Given the description of an element on the screen output the (x, y) to click on. 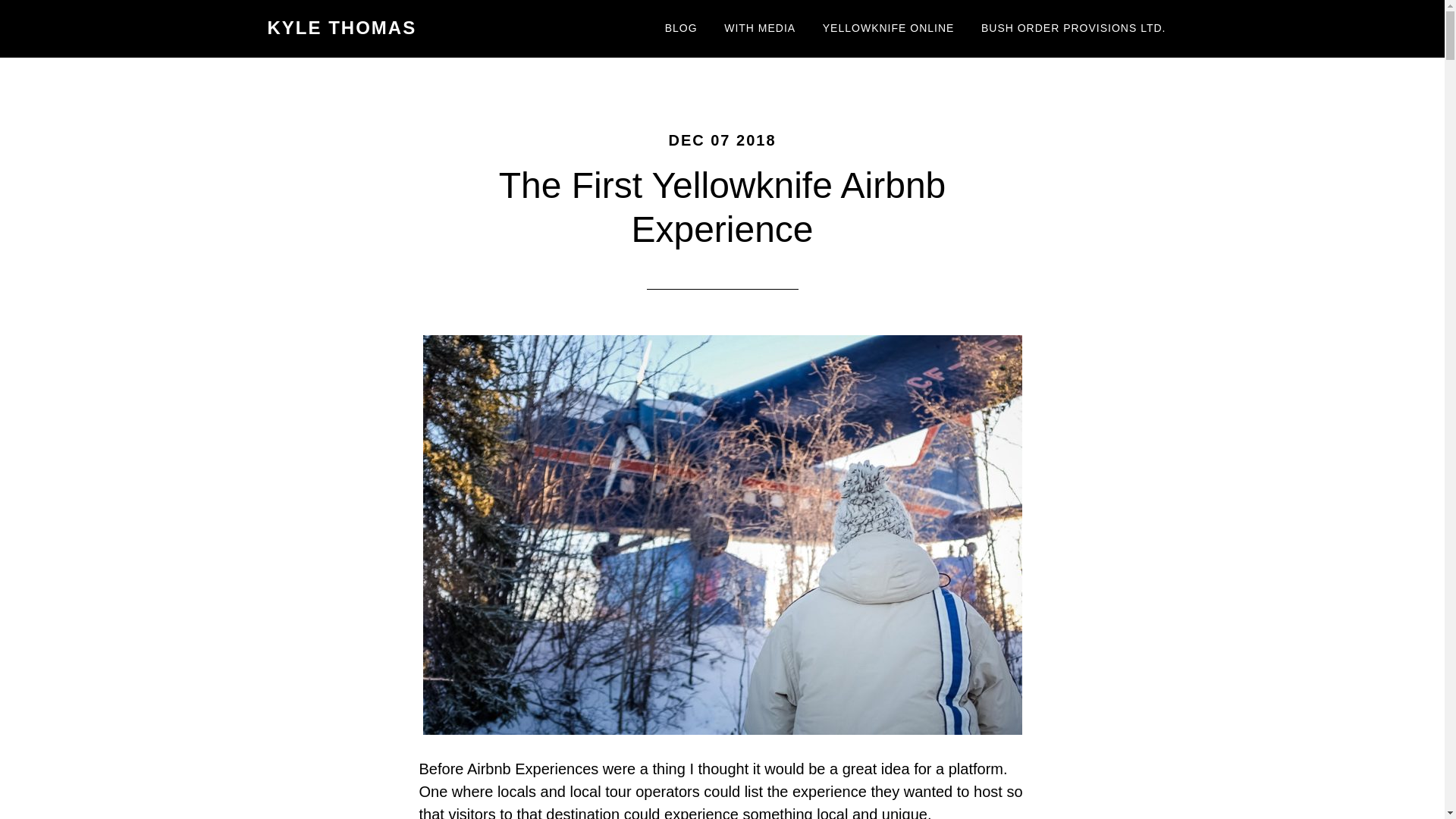
KYLE THOMAS (341, 27)
BLOG (681, 28)
The First Yellowknife Airbnb Experience (722, 207)
YELLOWKNIFE ONLINE (888, 28)
WITH MEDIA (759, 28)
BUSH ORDER PROVISIONS LTD. (1073, 28)
